Given the description of an element on the screen output the (x, y) to click on. 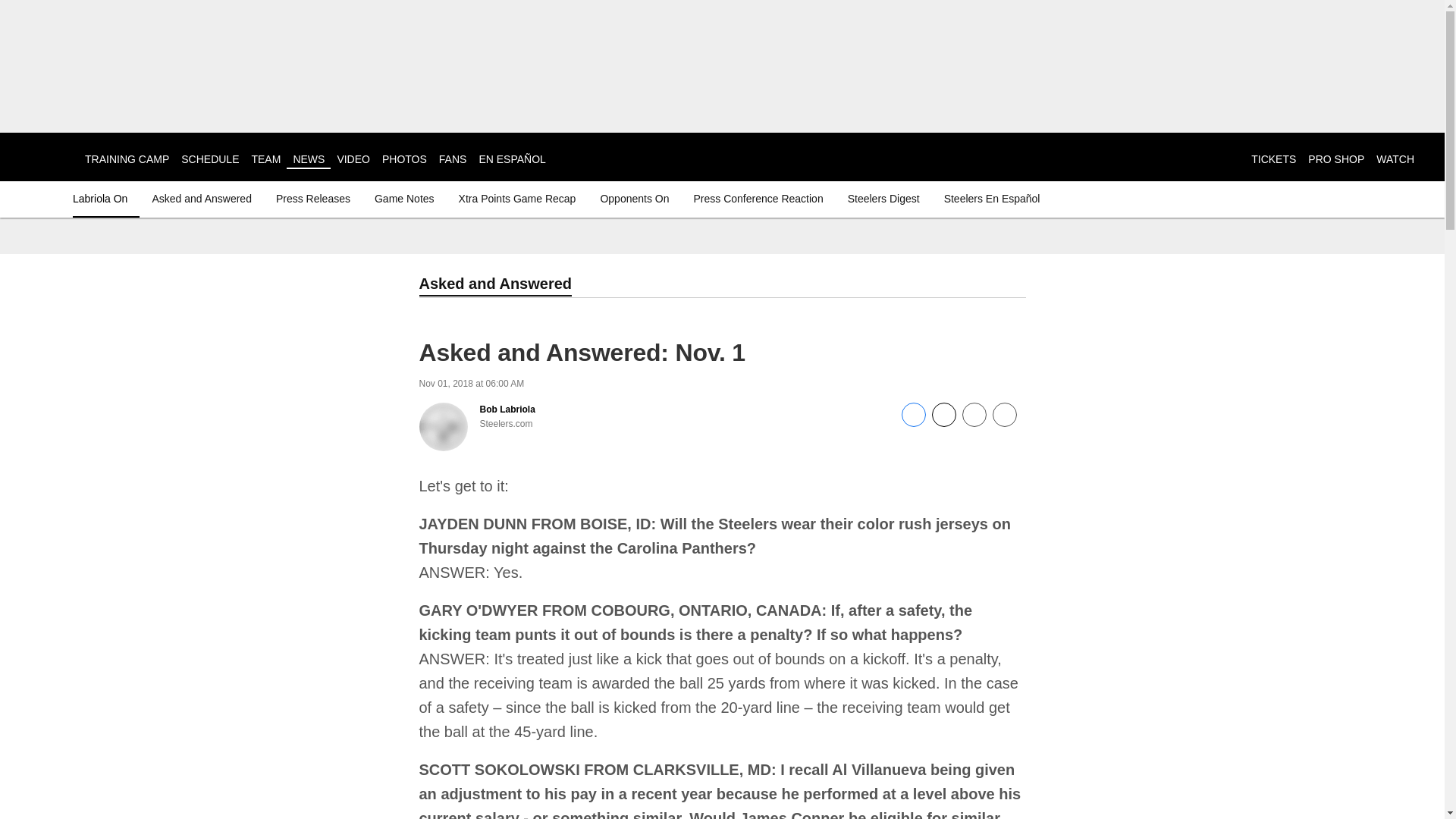
NEWS (308, 159)
Opponents On (634, 198)
TICKETS (1272, 159)
WATCH (1394, 159)
VIDEO (352, 159)
Asked and Answered (201, 198)
Press Releases (312, 198)
PRO SHOP (1335, 159)
FANS (453, 159)
VIDEO (352, 159)
